Given the description of an element on the screen output the (x, y) to click on. 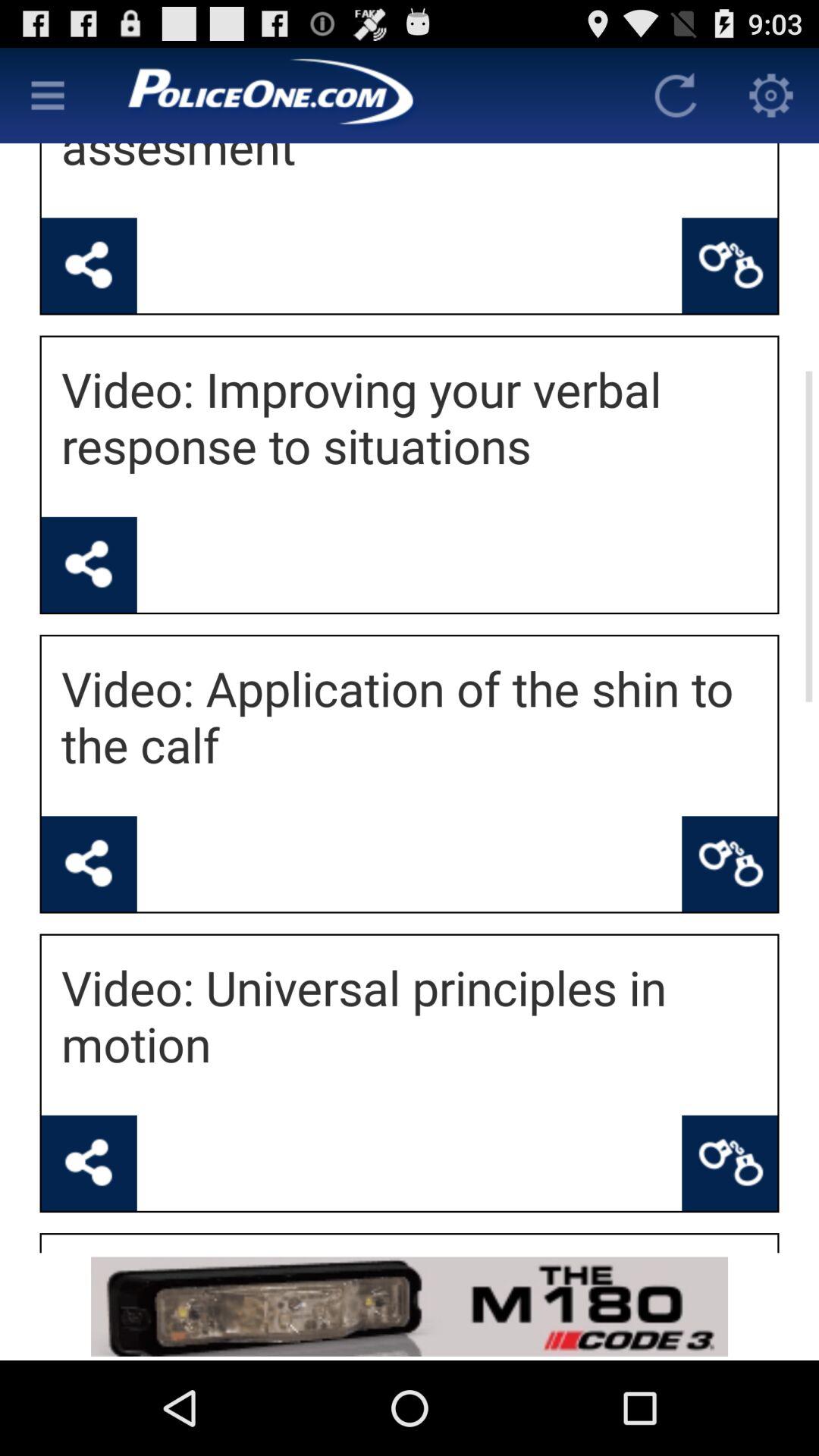
share the article (89, 1162)
